Given the description of an element on the screen output the (x, y) to click on. 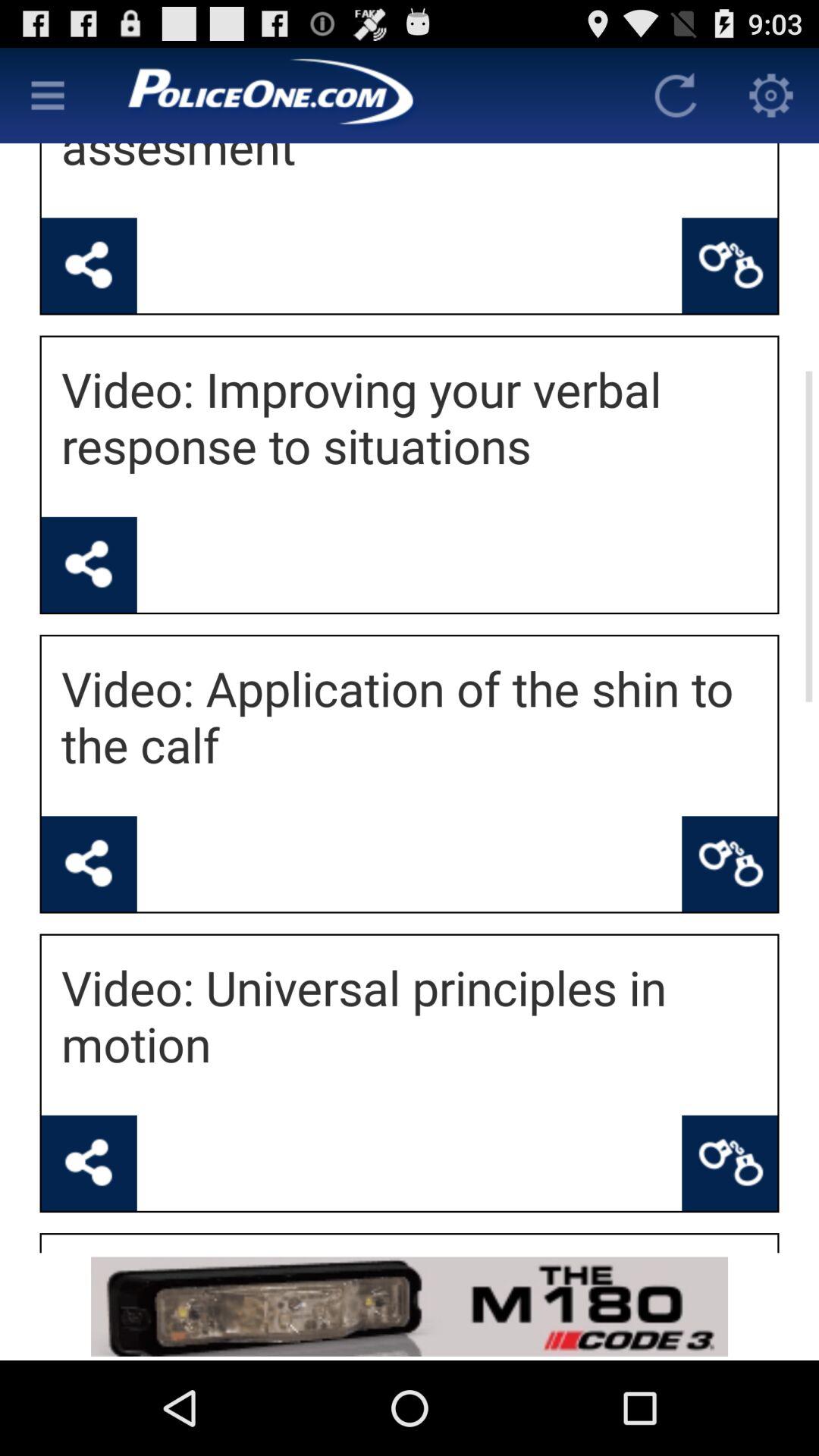
share the article (89, 1162)
